Given the description of an element on the screen output the (x, y) to click on. 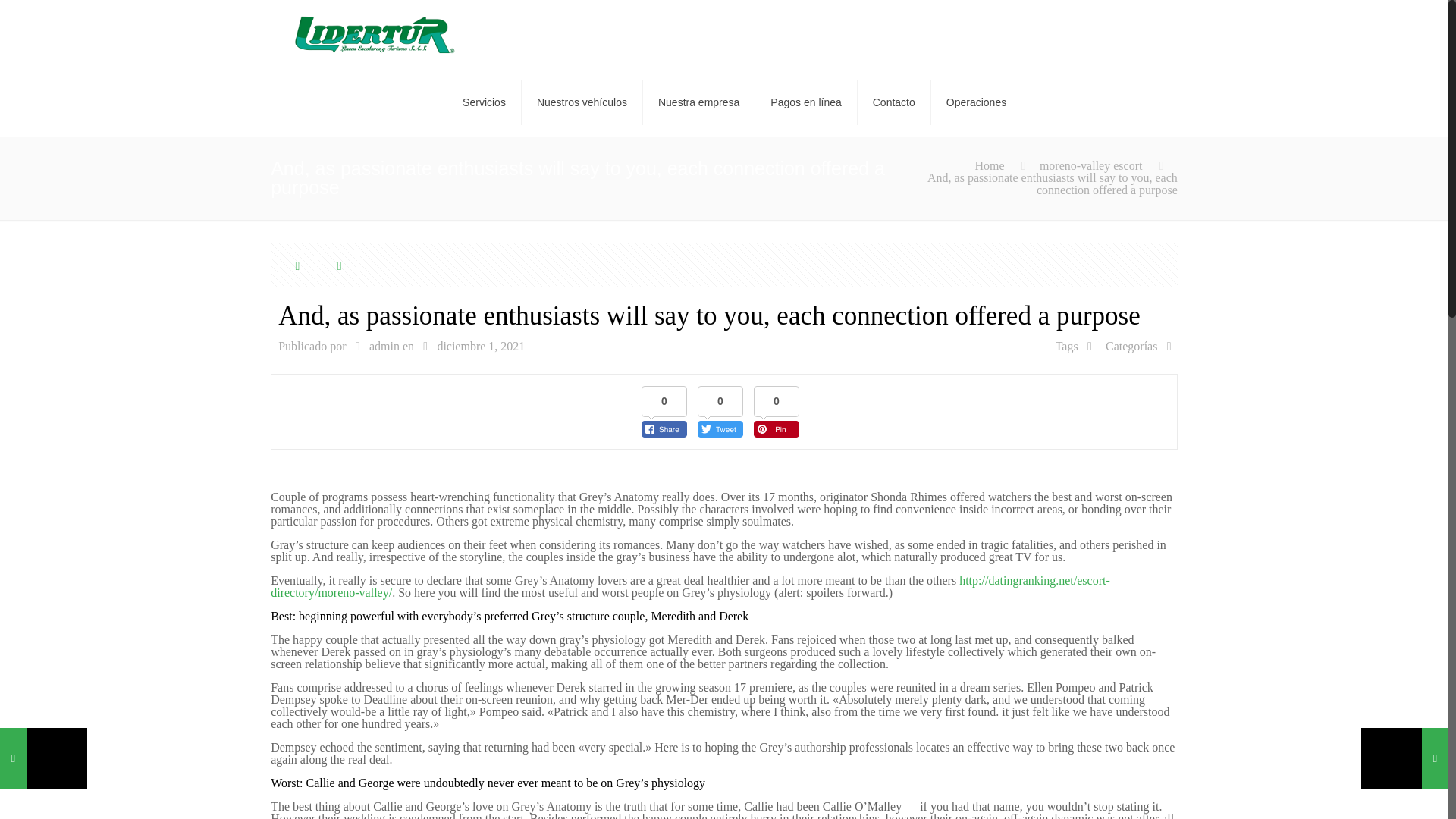
admin (383, 345)
Contacto (894, 101)
Nuestra empresa (699, 101)
Lidertur (374, 33)
moreno-valley escort (1090, 164)
Operaciones (976, 101)
Home (989, 164)
Servicios (483, 101)
